Given the description of an element on the screen output the (x, y) to click on. 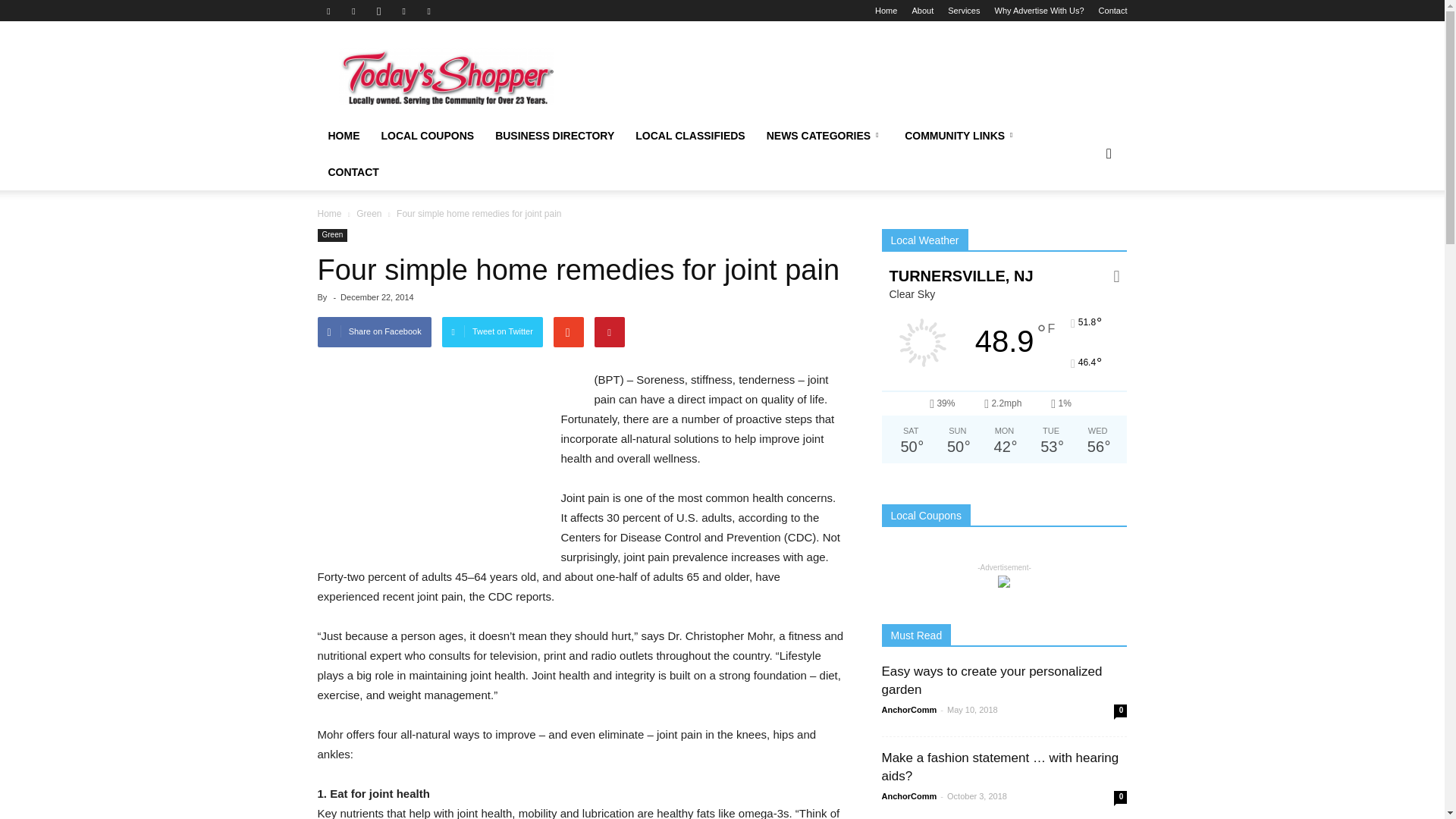
View all posts in Green (370, 213)
Your Source for Local Coupons and Classifieds (445, 76)
Facebook (328, 10)
Twitter (403, 10)
Instagram (379, 10)
Youtube (429, 10)
